Given the description of an element on the screen output the (x, y) to click on. 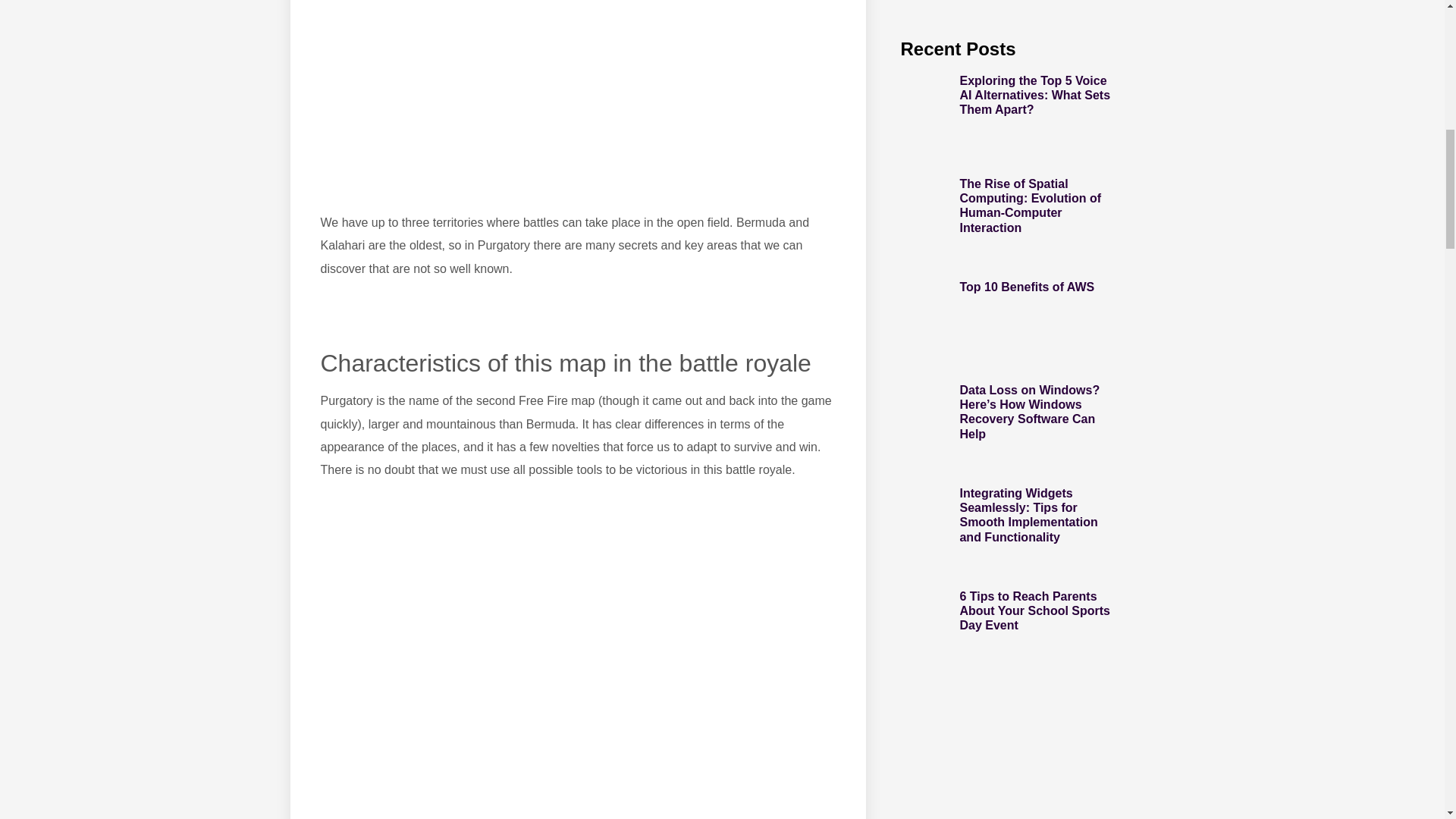
Top 10 Benefits of AWS (1026, 286)
6 Tips to Reach Parents About Your School Sports Day Event (1034, 610)
